Given the description of an element on the screen output the (x, y) to click on. 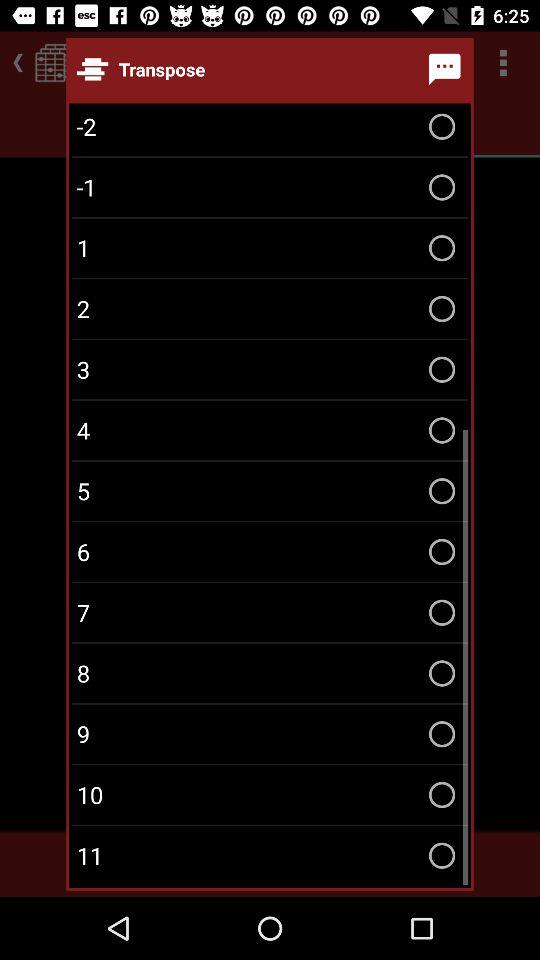
scroll until the 10 item (269, 794)
